Given the description of an element on the screen output the (x, y) to click on. 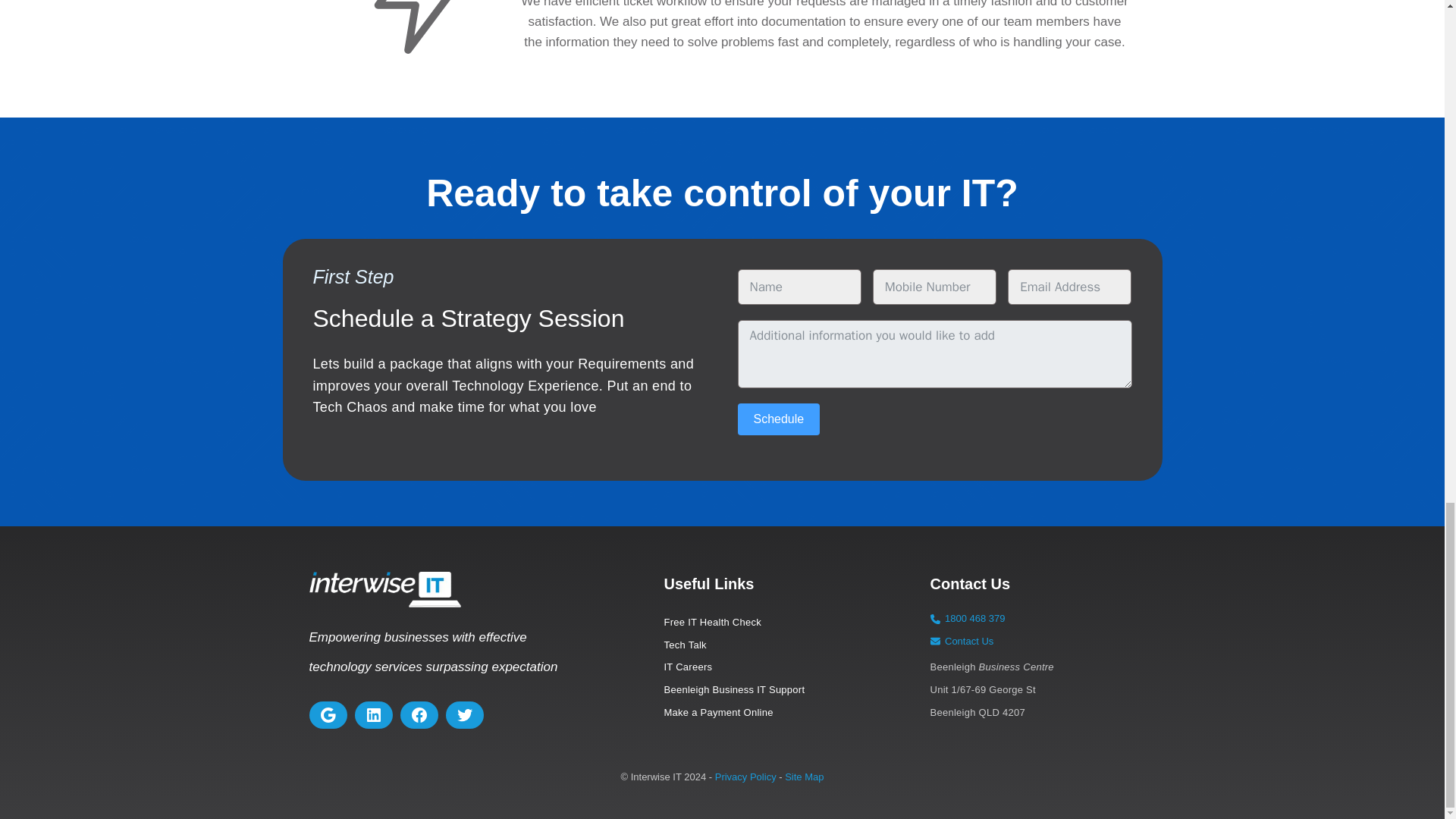
Scroll back to top (1353, 216)
InterwiseIT-Logo-Reversed (384, 589)
